Given the description of an element on the screen output the (x, y) to click on. 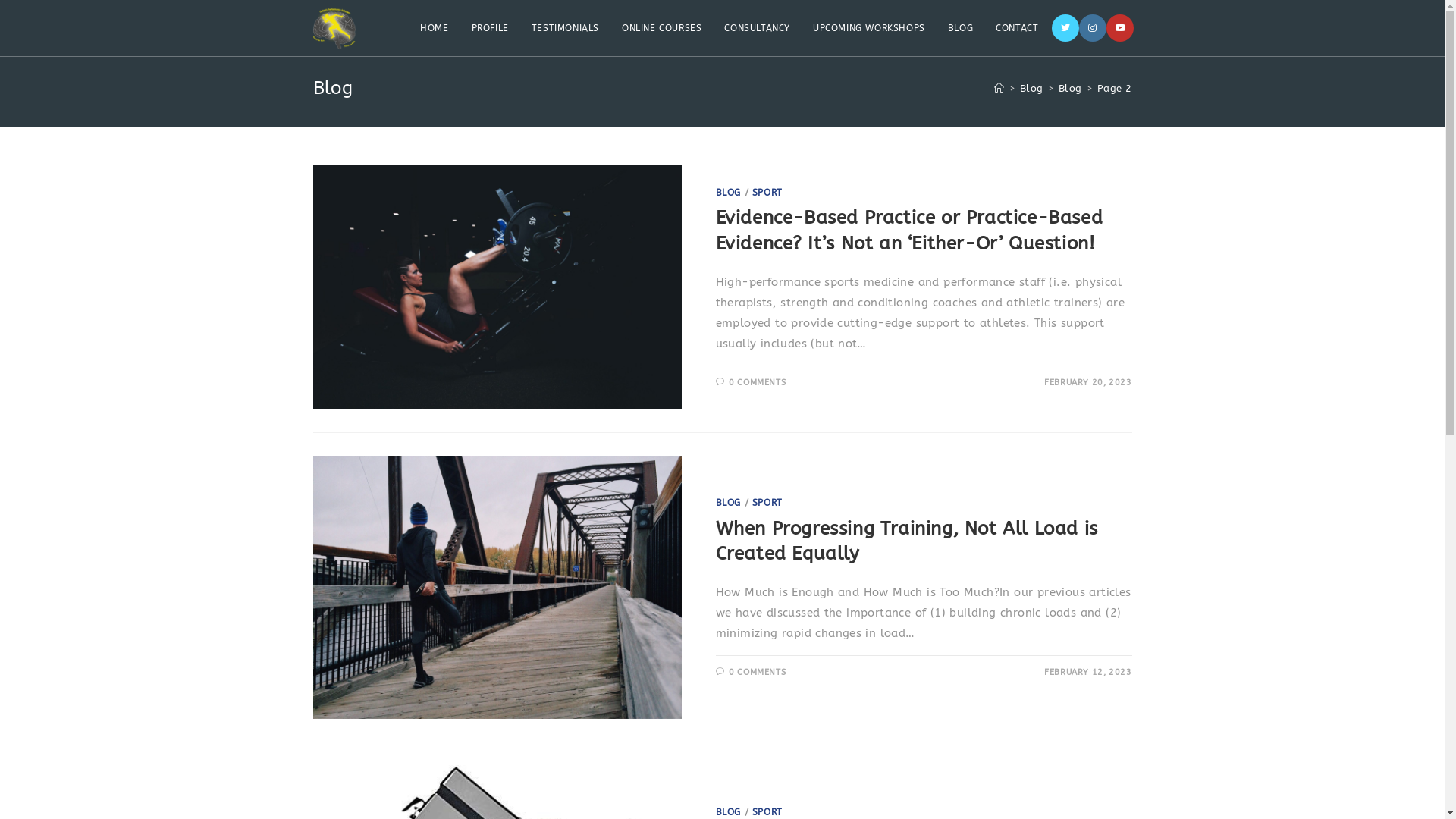
Page 2 Element type: text (1114, 88)
PROFILE Element type: text (490, 28)
SPORT Element type: text (767, 192)
CONTACT Element type: text (1016, 28)
HOME Element type: text (433, 28)
CONSULTANCY Element type: text (756, 28)
0 COMMENTS Element type: text (756, 672)
BLOG Element type: text (960, 28)
SPORT Element type: text (767, 811)
When Progressing Training, Not All Load is Created Equally Element type: text (906, 540)
0 COMMENTS Element type: text (756, 382)
UPCOMING WORKSHOPS Element type: text (868, 28)
TESTIMONIALS Element type: text (565, 28)
Blog Element type: text (1031, 88)
BLOG Element type: text (727, 811)
SPORT Element type: text (767, 502)
BLOG Element type: text (727, 192)
ONLINE COURSES Element type: text (661, 28)
Blog Element type: text (1070, 88)
BLOG Element type: text (727, 502)
